Given the description of an element on the screen output the (x, y) to click on. 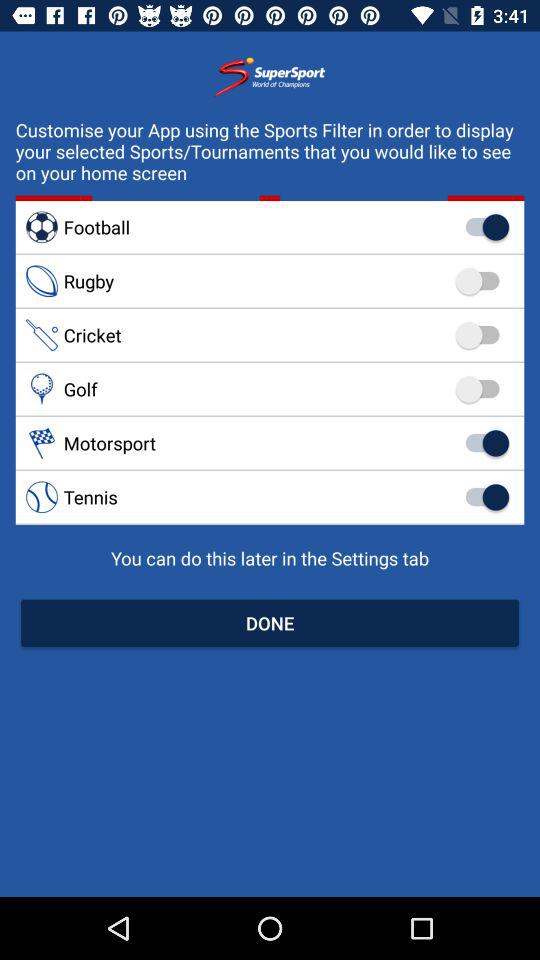
flip to golf item (269, 389)
